Given the description of an element on the screen output the (x, y) to click on. 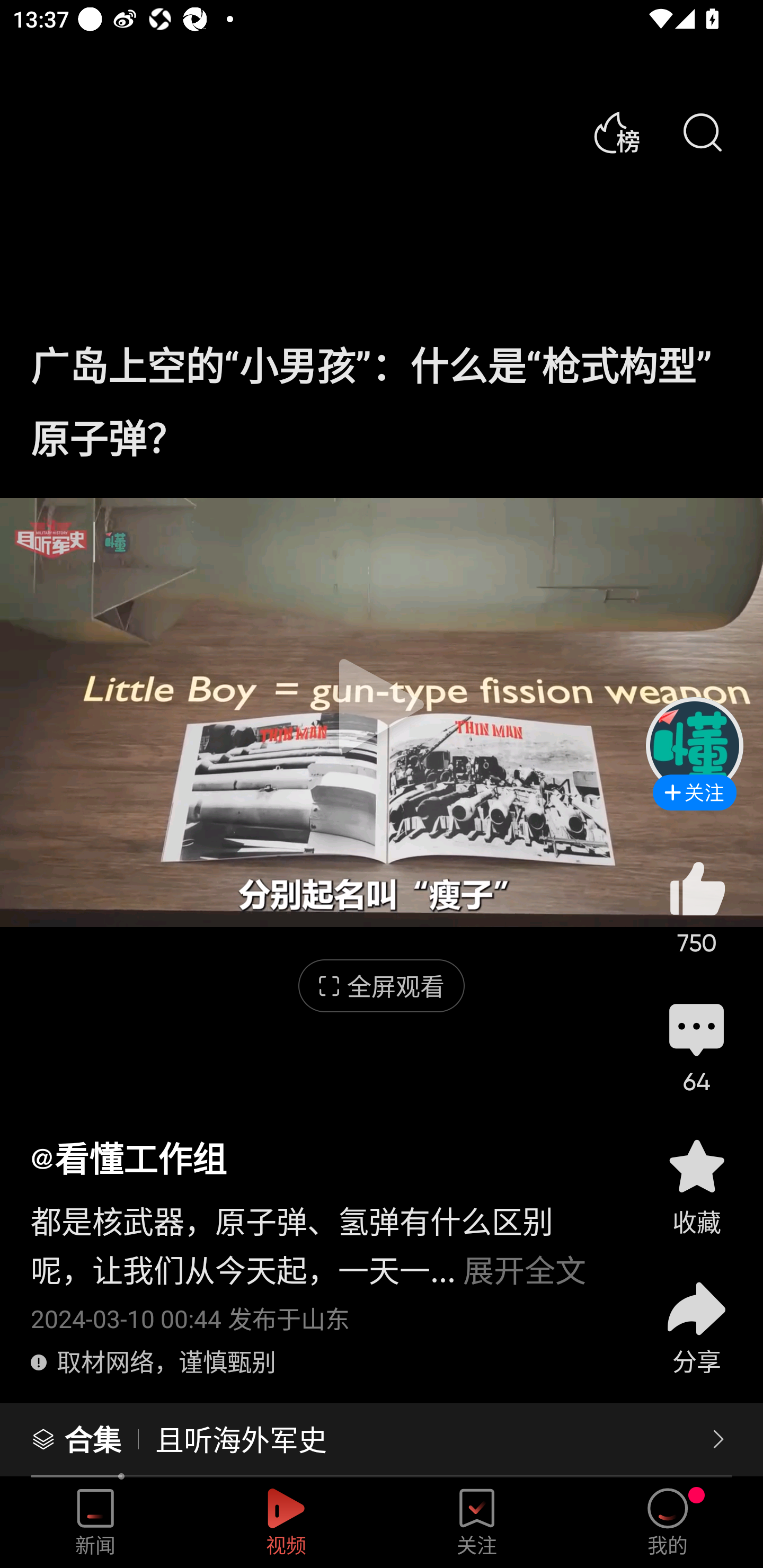
 热榜 (616, 133)
 搜索 (701, 133)
赞 750 (696, 906)
全屏观看 (381, 985)
评论  64 (696, 1045)
收藏 (696, 1184)
看懂工作组 (128, 1157)
都是核武器，原子弹、氢弹有什么区别呢，让我们从今天起，一天一... 展开全文 (321, 1235)
分享  分享 (696, 1315)
合集 且听海外军史  (381, 1440)
